Given the description of an element on the screen output the (x, y) to click on. 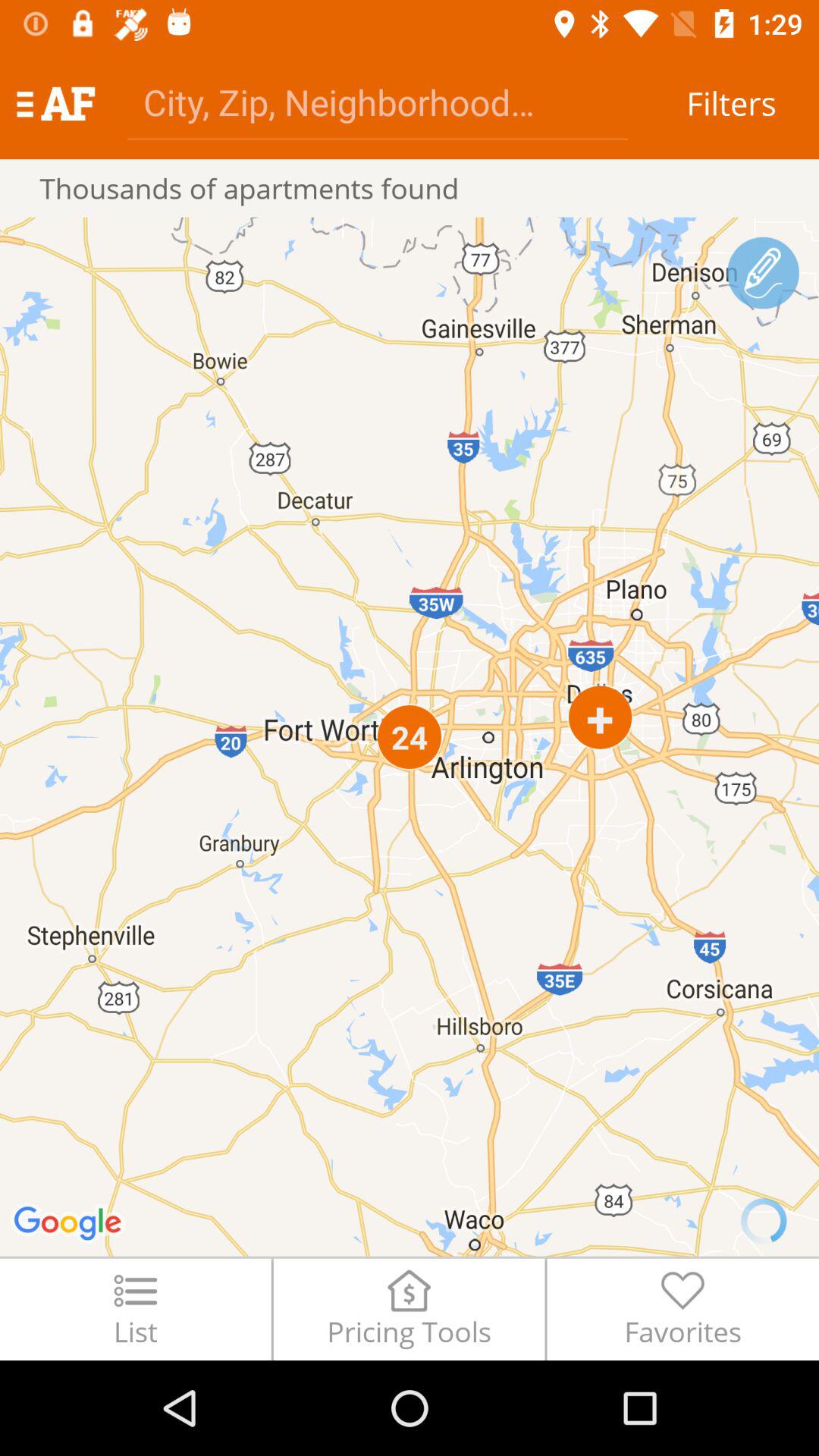
swipe until pricing tools item (408, 1309)
